Given the description of an element on the screen output the (x, y) to click on. 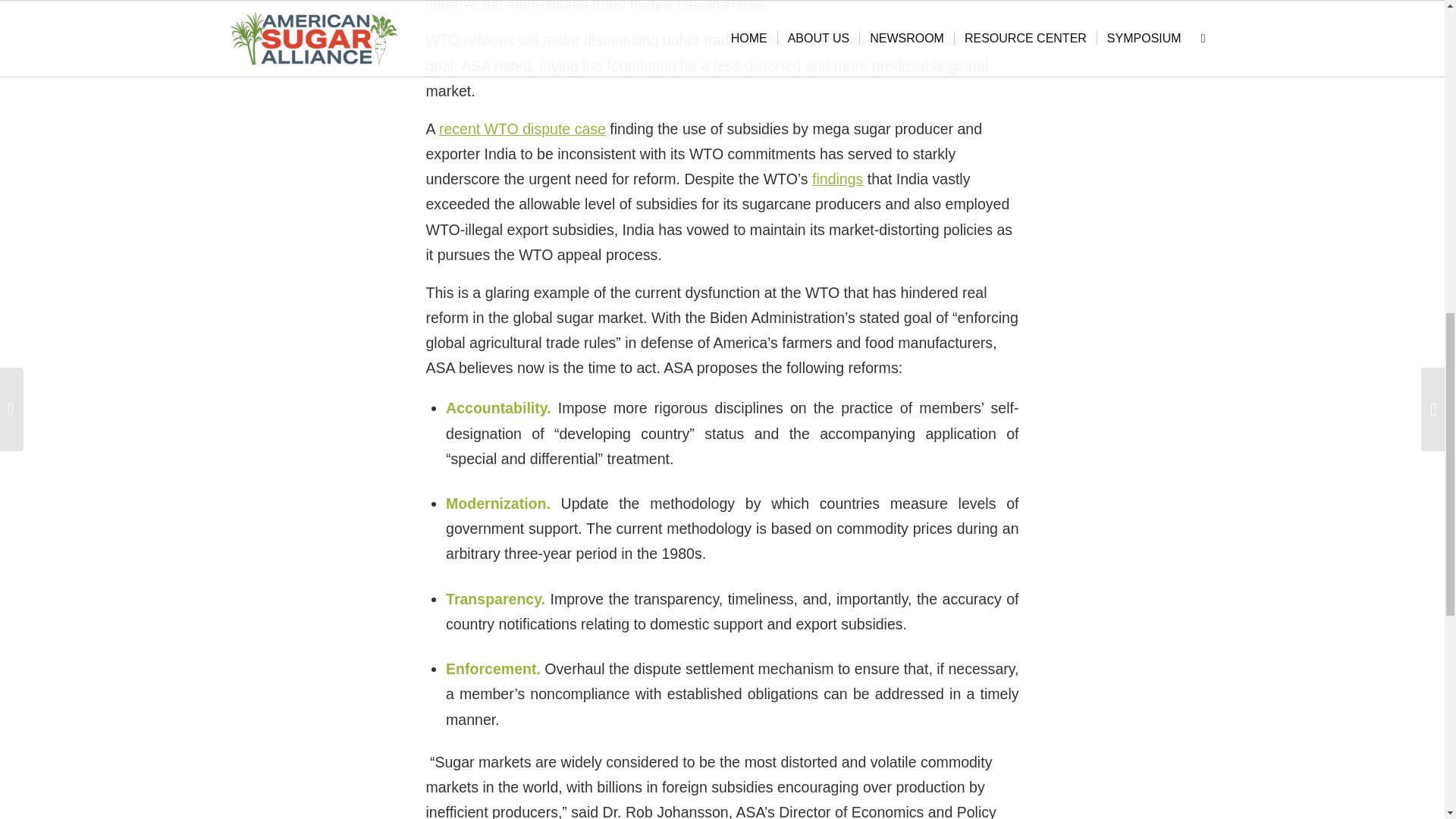
recent WTO dispute case (522, 128)
findings (837, 178)
